Given the description of an element on the screen output the (x, y) to click on. 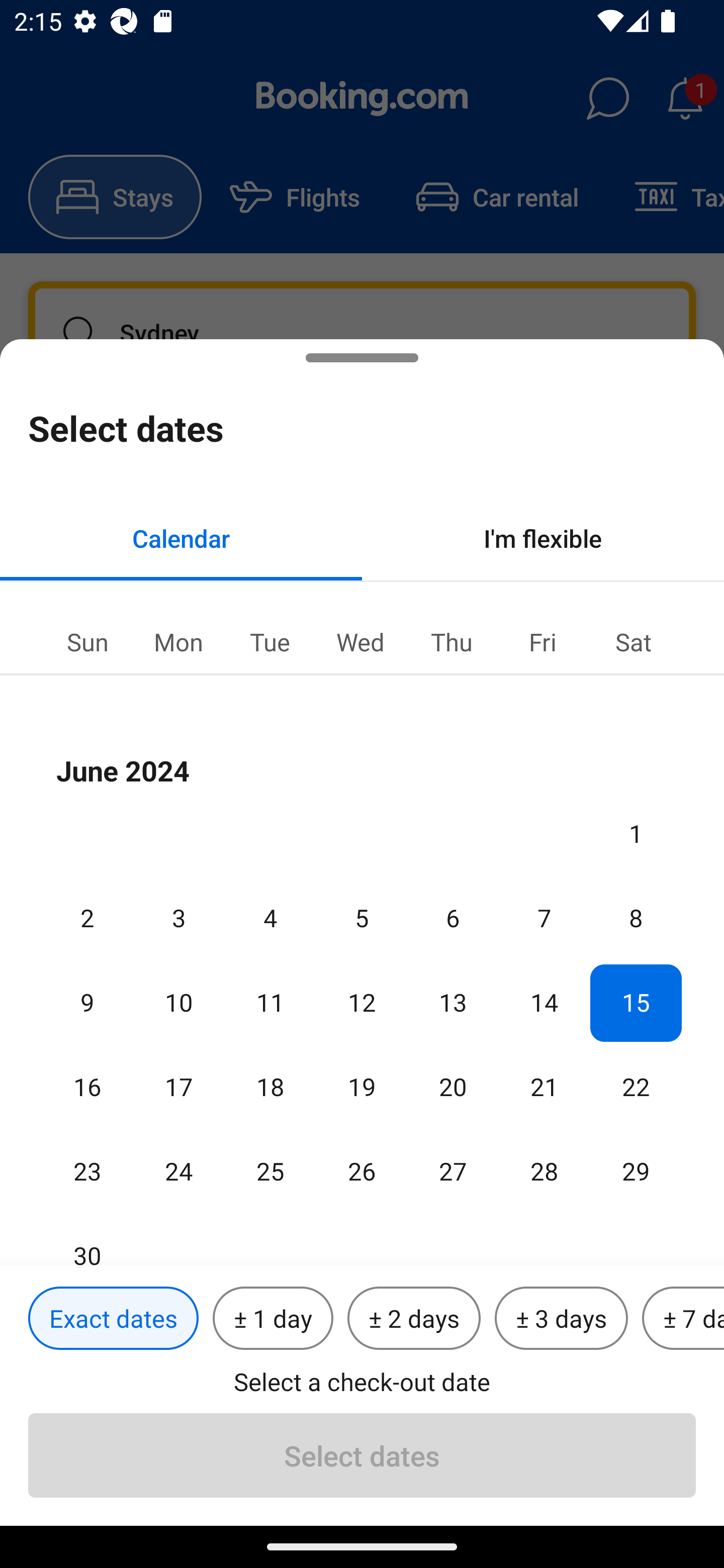
I'm flexible (543, 537)
Exact dates (113, 1318)
± 1 day (272, 1318)
± 2 days (413, 1318)
± 3 days (560, 1318)
± 7 days (683, 1318)
Select dates (361, 1454)
